Given the description of an element on the screen output the (x, y) to click on. 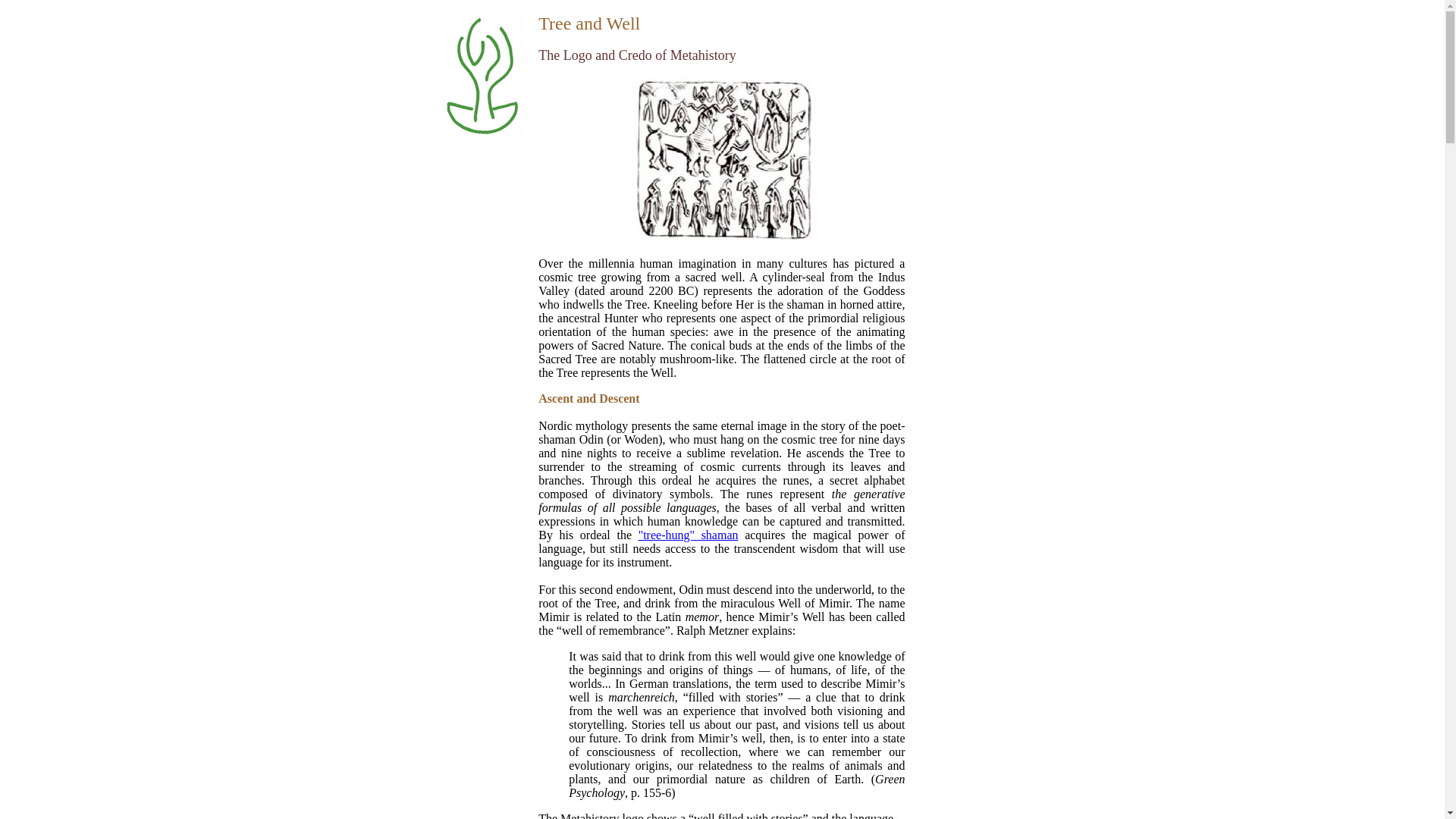
"tree-hung" shaman (688, 534)
